Given the description of an element on the screen output the (x, y) to click on. 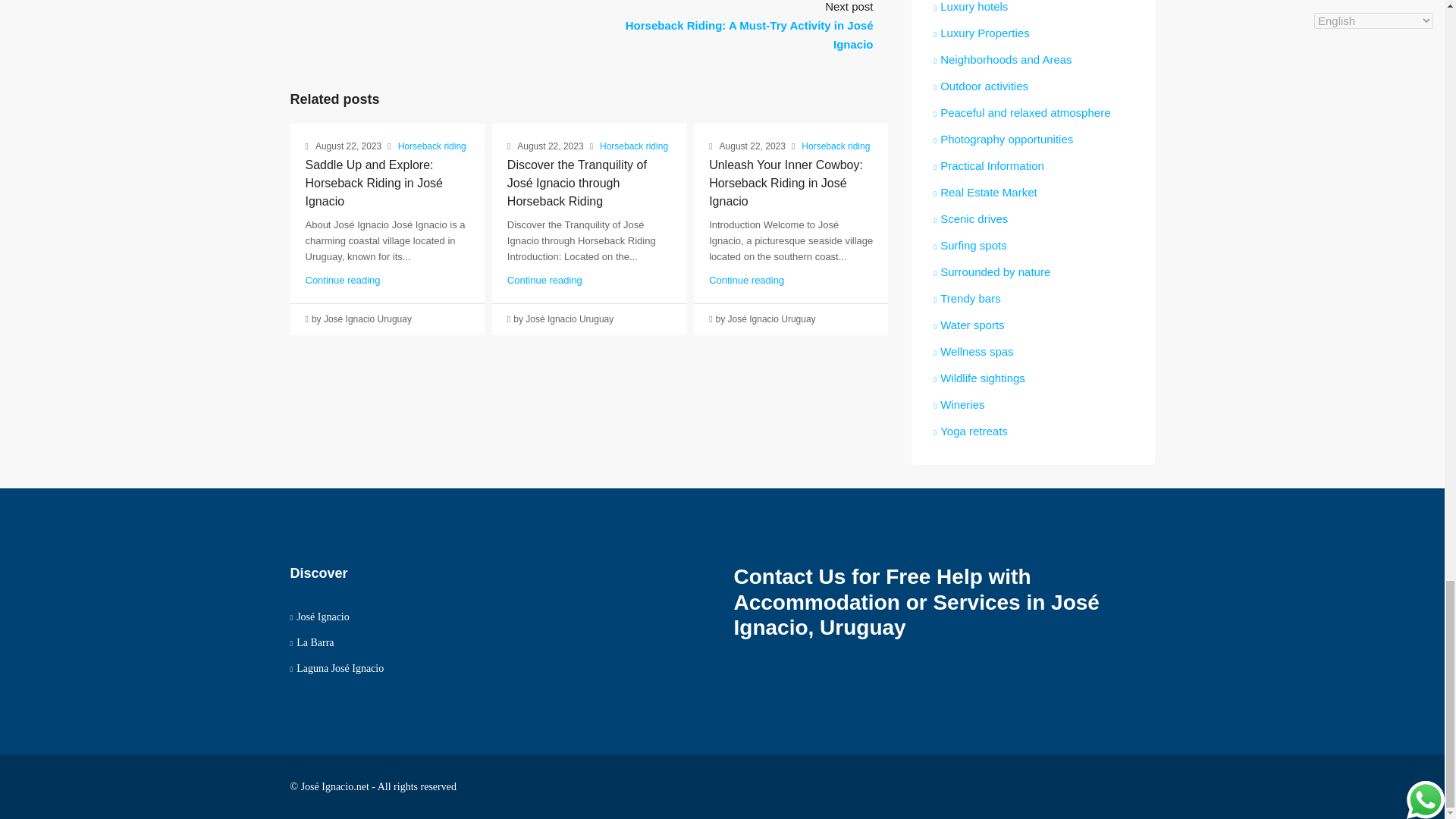
Horseback riding (835, 146)
Continue reading (544, 279)
Horseback riding (431, 146)
Continue reading (342, 279)
Continue reading (746, 279)
Horseback riding (633, 146)
